Given the description of an element on the screen output the (x, y) to click on. 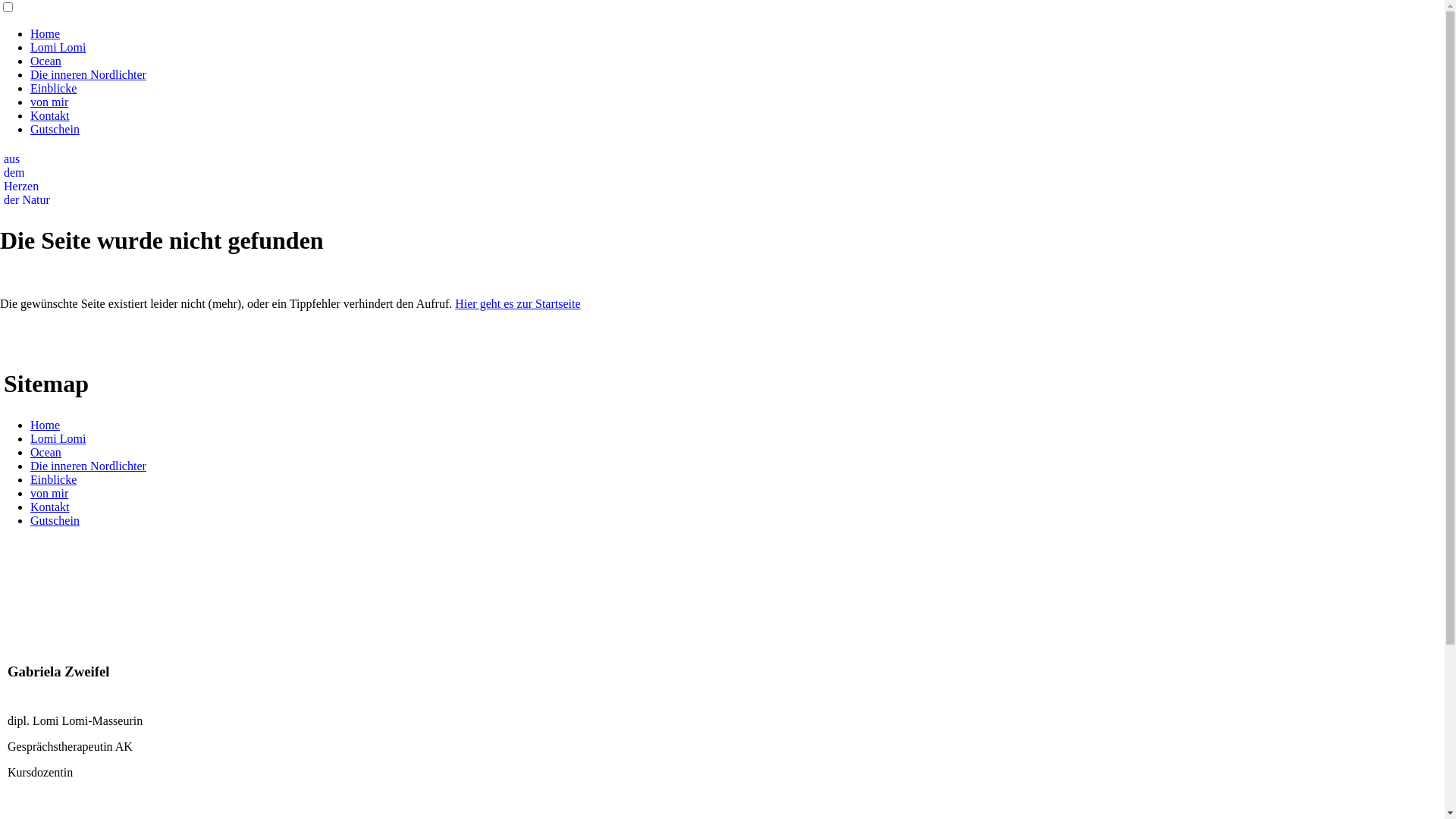
von mir Element type: text (49, 492)
Einblicke Element type: text (53, 479)
Ocean Element type: text (45, 60)
aus 
dem
Herzen
der Natur Element type: text (26, 179)
Lomi Lomi Element type: text (57, 46)
Die inneren Nordlichter Element type: text (88, 74)
Gutschein Element type: text (54, 520)
Hier geht es zur Startseite Element type: text (517, 303)
Kontakt Element type: text (49, 115)
Lomi Lomi Element type: text (57, 438)
Kontakt Element type: text (49, 506)
von mir Element type: text (49, 101)
Ocean Element type: text (45, 451)
Home Element type: text (44, 424)
Gutschein Element type: text (54, 128)
Home Element type: text (44, 33)
Die inneren Nordlichter Element type: text (88, 465)
Einblicke Element type: text (53, 87)
